Given the description of an element on the screen output the (x, y) to click on. 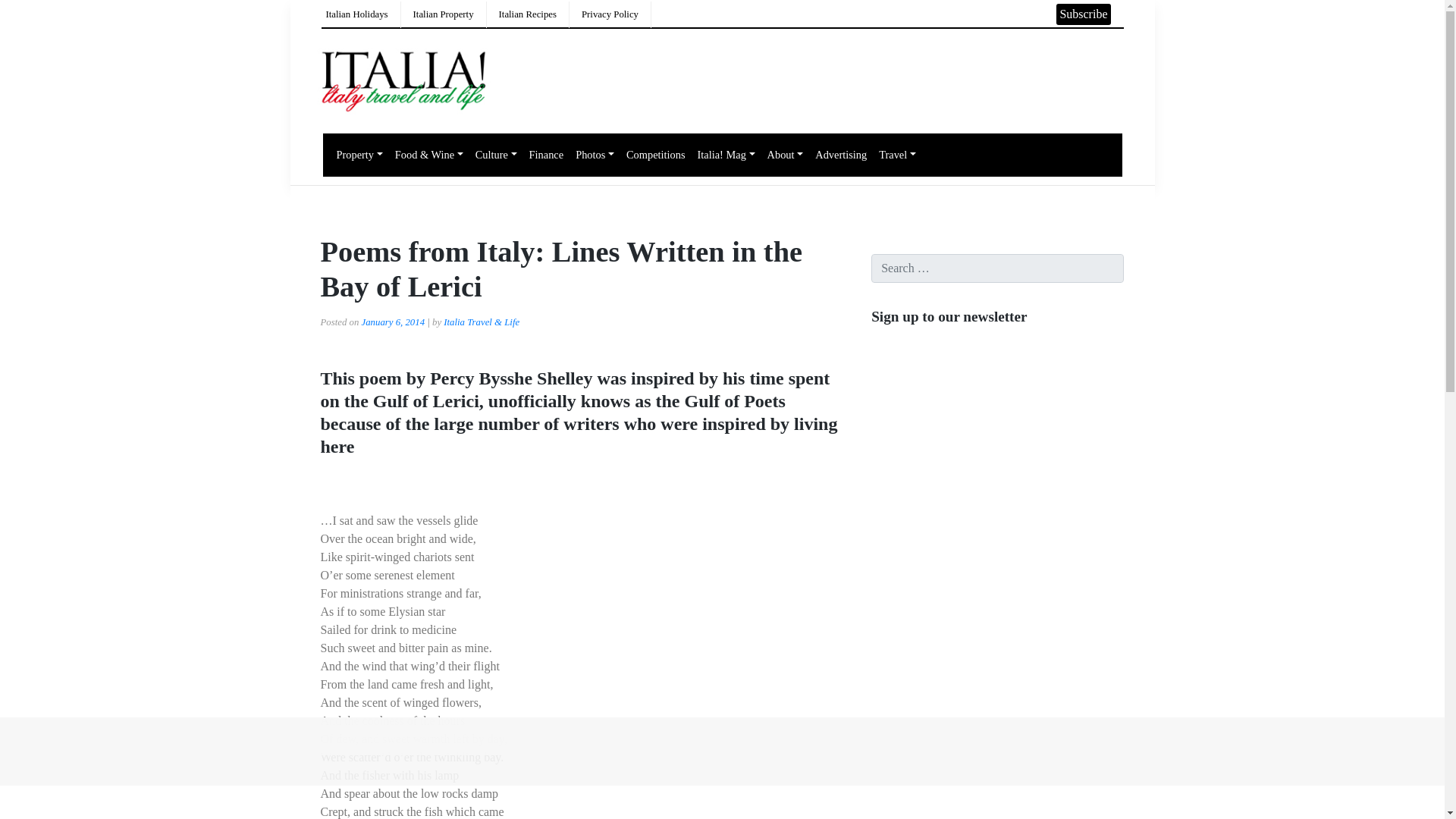
Culture (495, 154)
Italia! Mag (726, 154)
About (785, 154)
Finance (546, 154)
Italian Recipes (527, 14)
Italian Holidays (357, 14)
Privacy Policy (609, 14)
Photos (594, 154)
Competitions (655, 154)
Italian Holidays (357, 14)
